Given the description of an element on the screen output the (x, y) to click on. 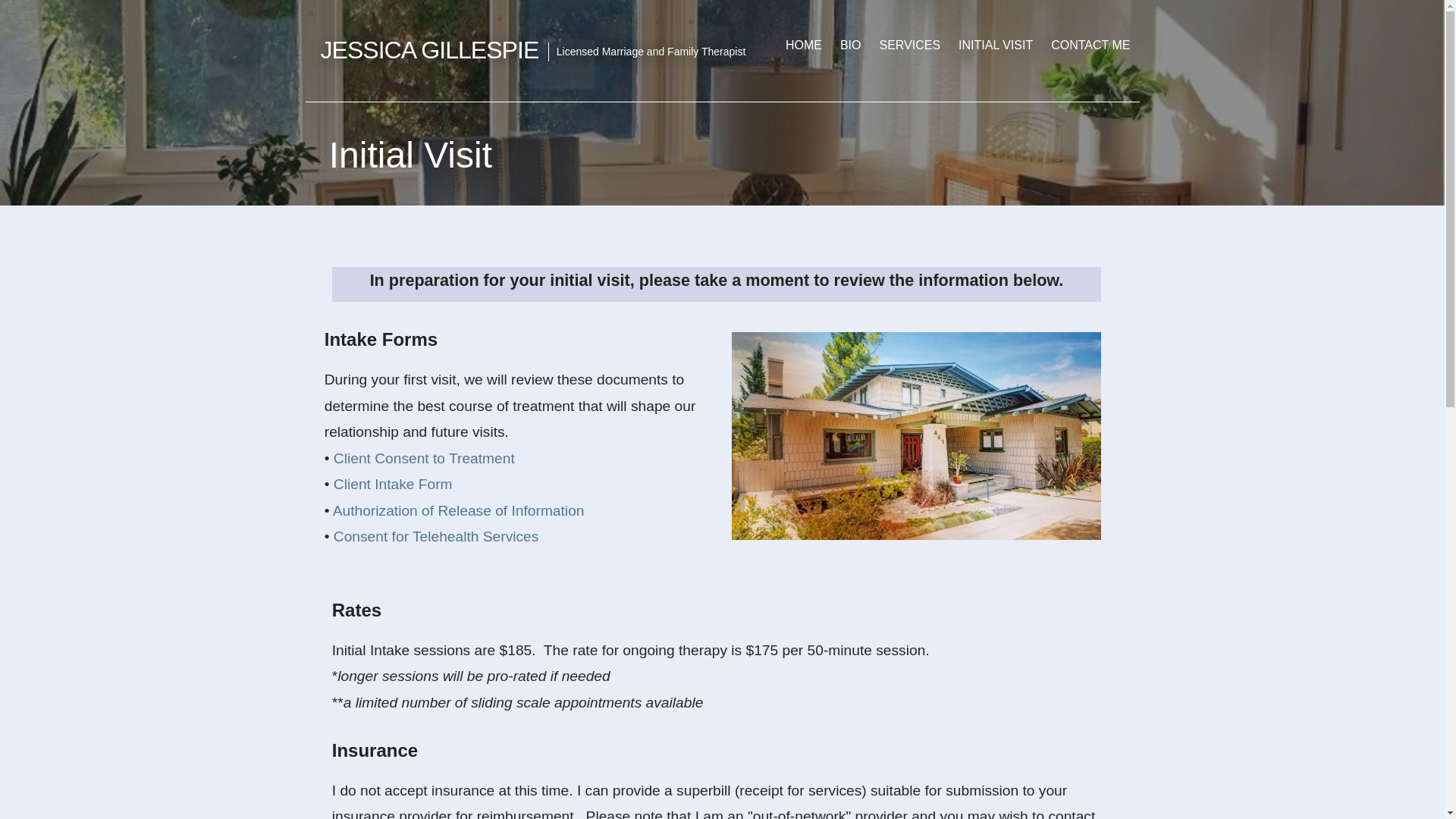
Authorization of Release of Information (459, 510)
INITIAL VISIT (995, 46)
Client Consent to Treatment (424, 458)
CONTACT ME (1090, 46)
House (916, 435)
Consent for Telehealth Services (435, 536)
JESSICA GILLESPIE (429, 49)
Client Intake Form (392, 483)
